Given the description of an element on the screen output the (x, y) to click on. 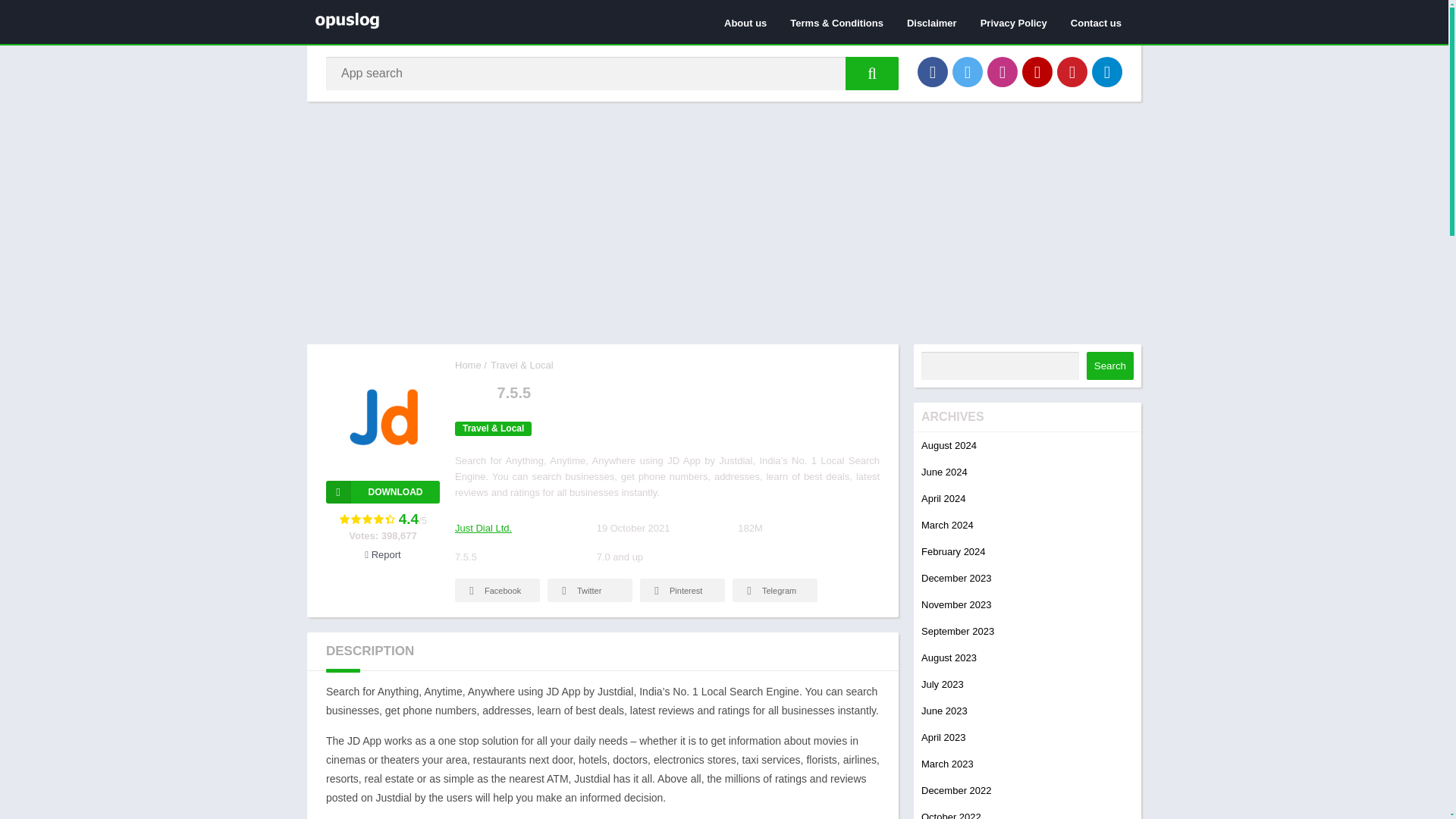
Twitter (967, 71)
Disclaimer (931, 22)
Facebook (497, 589)
Telegram (1107, 71)
Download (382, 491)
Facebook (932, 71)
Pinterest (1072, 71)
Telegram (774, 589)
DOWNLOAD (382, 491)
Pinterest (682, 589)
